Given the description of an element on the screen output the (x, y) to click on. 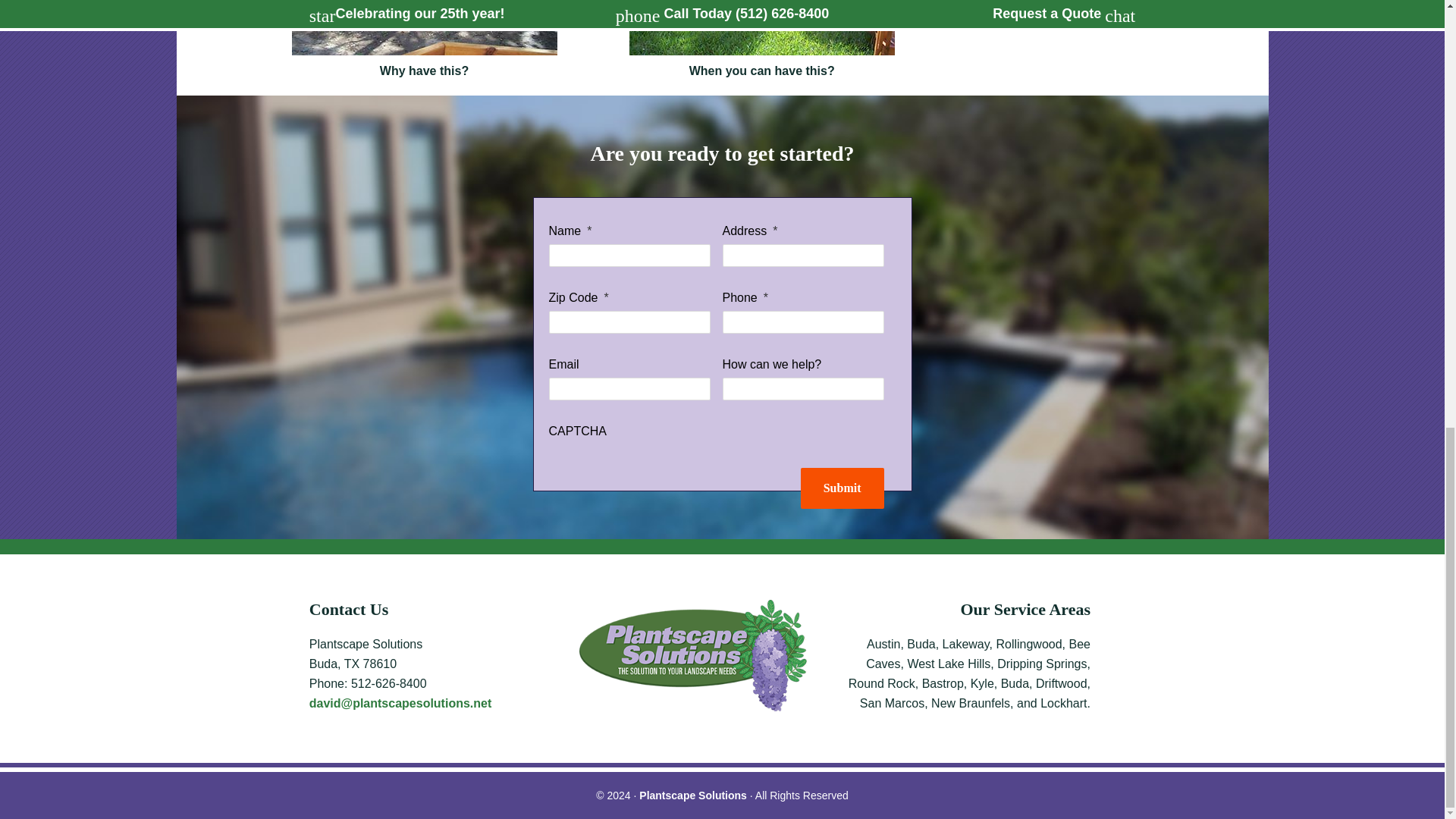
Submit (841, 487)
